Given the description of an element on the screen output the (x, y) to click on. 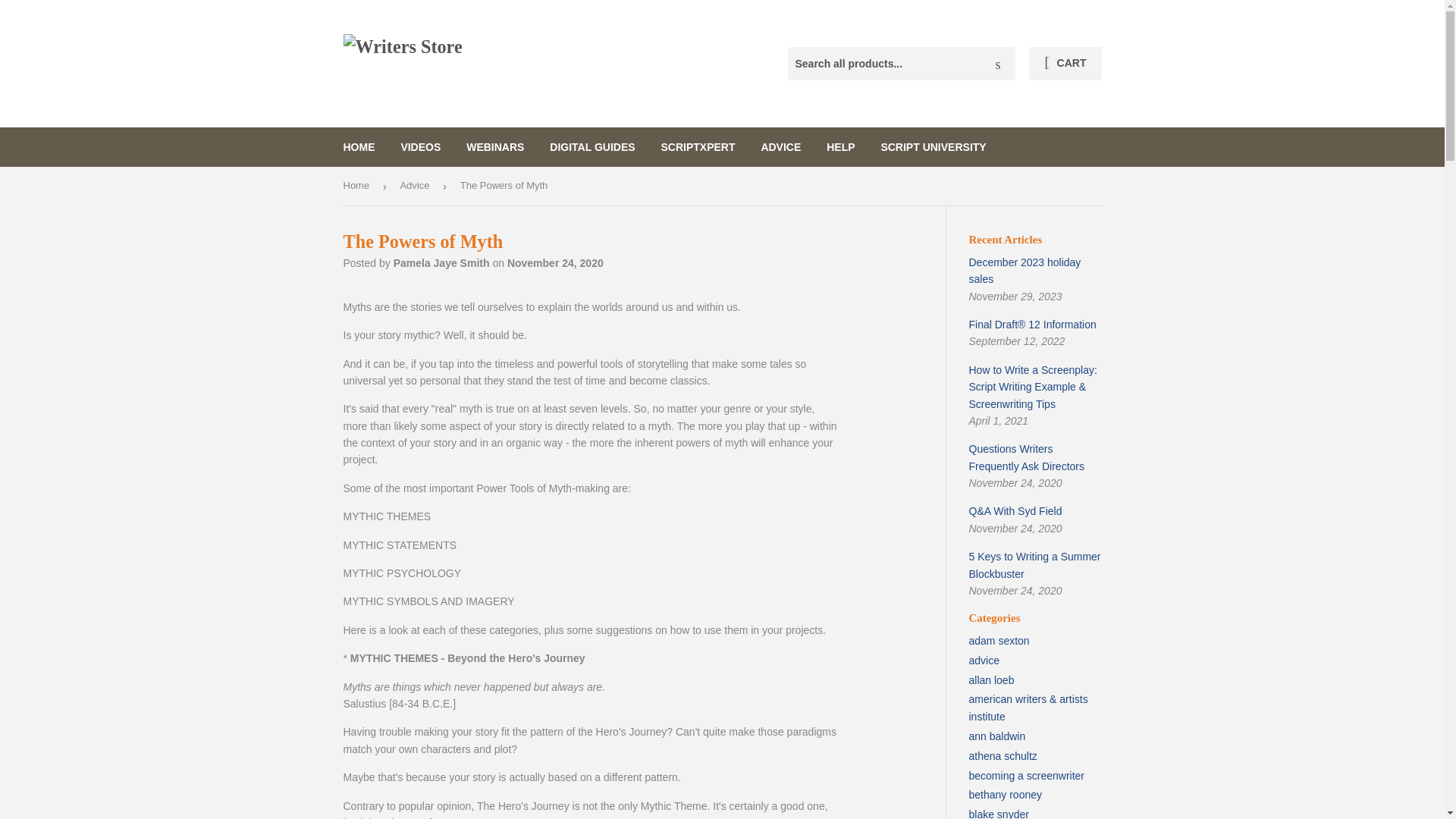
Questions Writers Frequently Ask Directors (1026, 457)
HOME (359, 147)
VIDEOS (419, 147)
Show articles tagged allan loeb (991, 680)
adam sexton (999, 640)
allan loeb (991, 680)
Show articles tagged blake snyder (999, 813)
Search (997, 64)
ADVICE (780, 147)
Show articles tagged ann baldwin (997, 736)
